Given the description of an element on the screen output the (x, y) to click on. 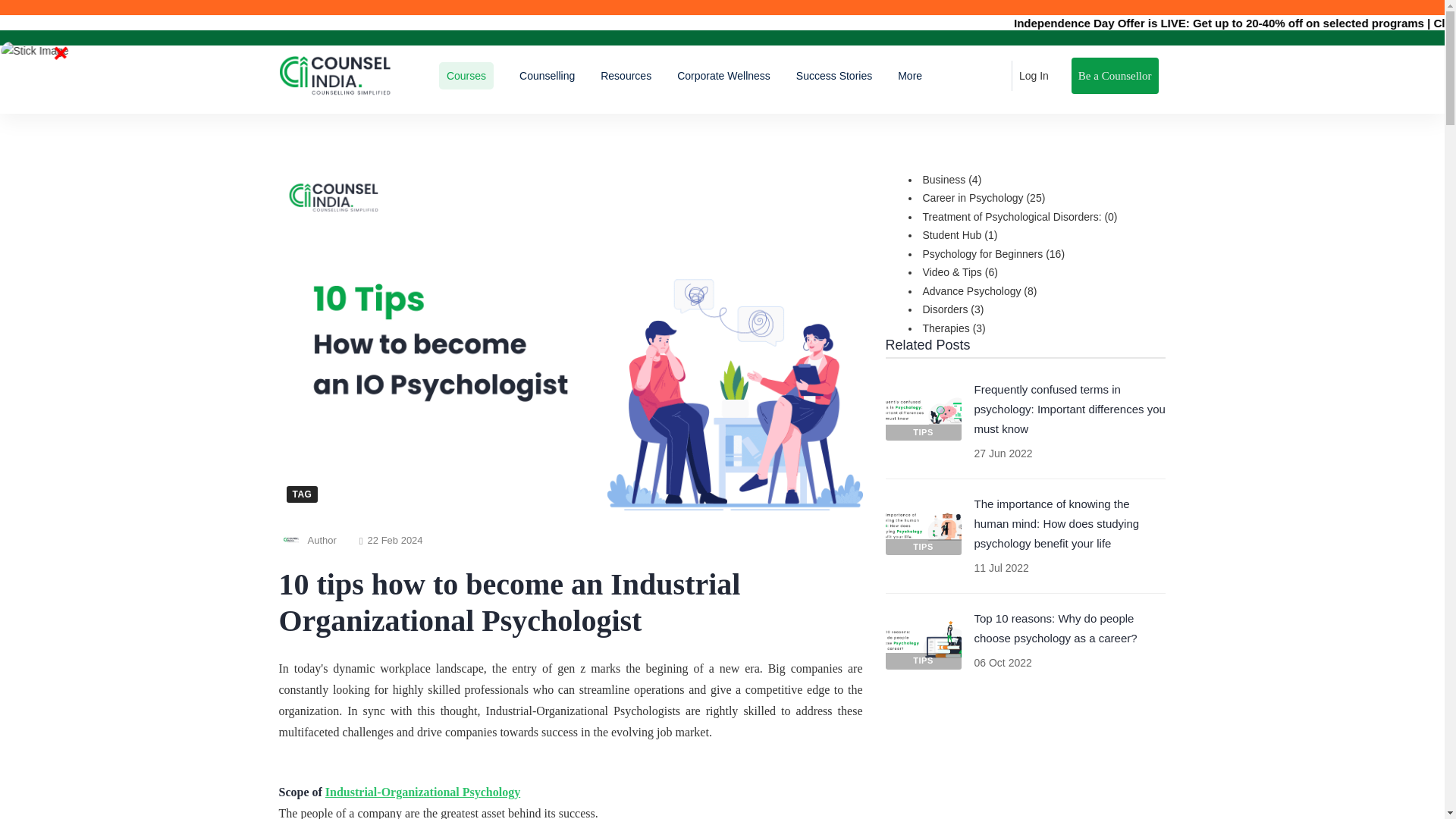
Counselling (547, 75)
Corporate Wellness (723, 75)
Log In (1033, 75)
Courses (466, 75)
Industrial-Organizational Psychology (421, 791)
Be a Counsellor (1114, 75)
Success Stories (834, 75)
Resources (625, 75)
